Given the description of an element on the screen output the (x, y) to click on. 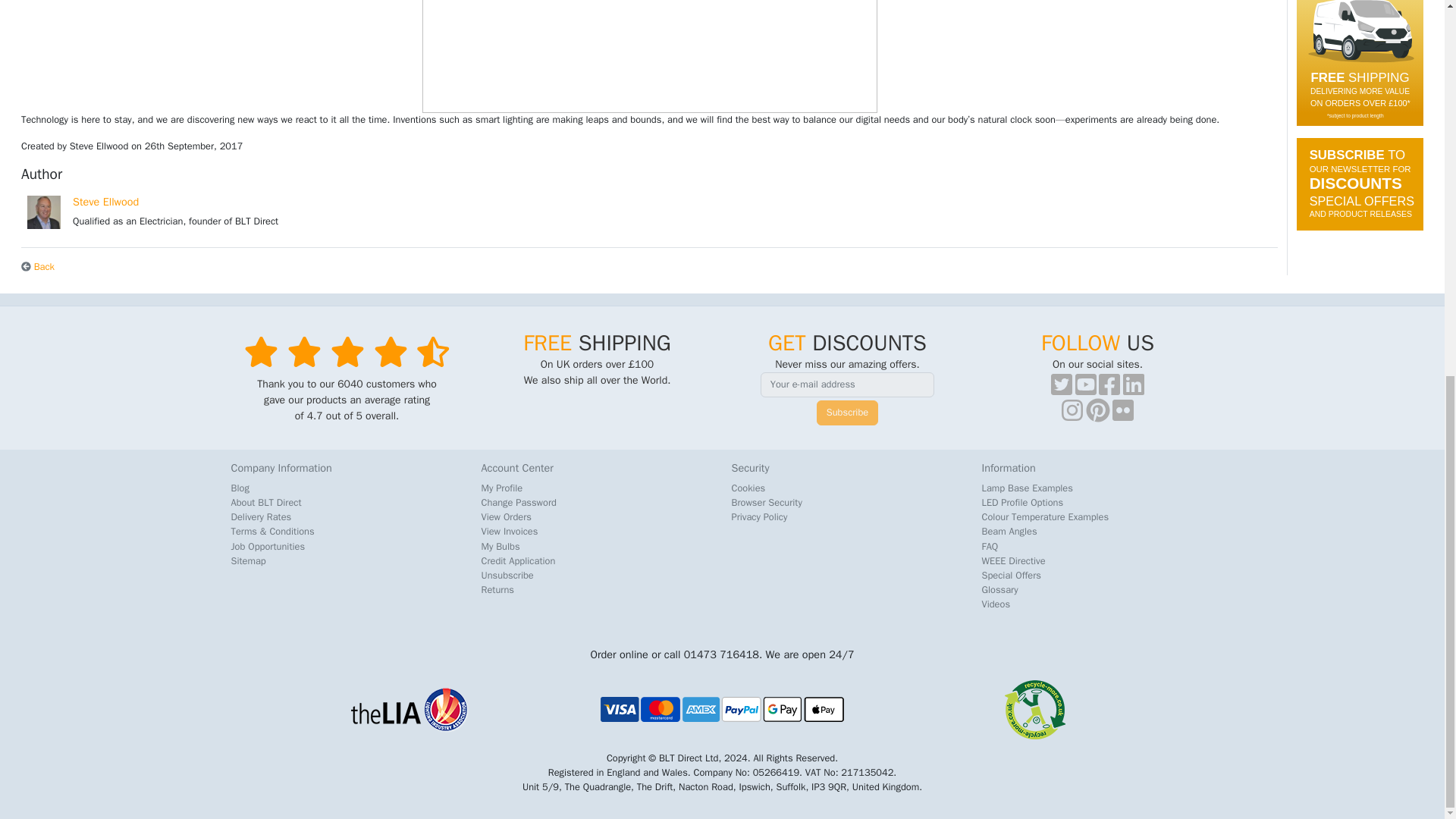
Subscribe to BLT Direct (1360, 184)
Back (38, 266)
Steve Ellwood (105, 201)
Steve Ellwood (105, 201)
Free Shipping from BLT Direct (1360, 63)
Steve Ellwood (44, 211)
Subscribe (846, 412)
